Given the description of an element on the screen output the (x, y) to click on. 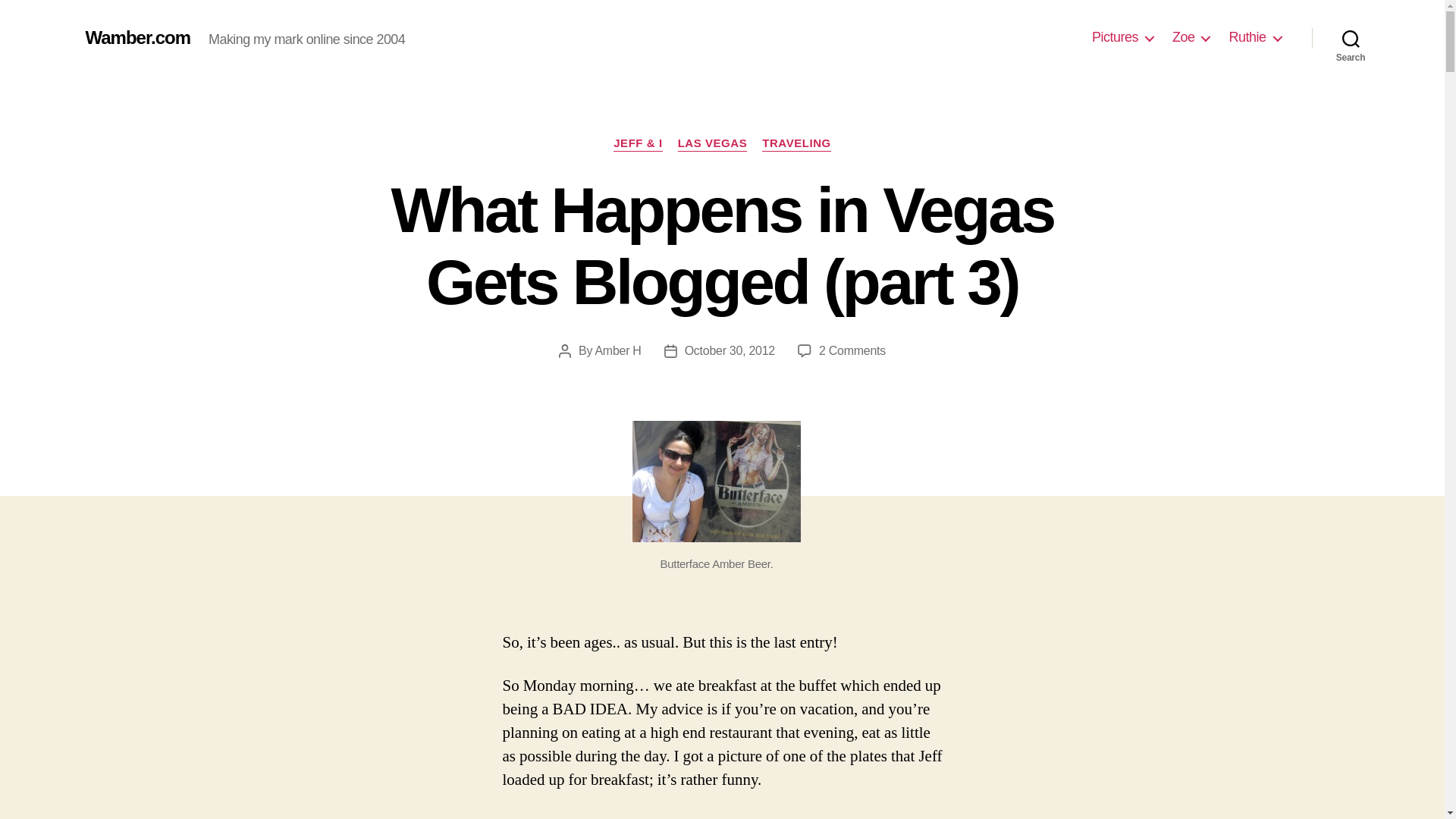
Amber H (617, 350)
LAS VEGAS (713, 143)
Zoe (1190, 37)
Search (1350, 37)
October 30, 2012 (729, 350)
Pictures (1122, 37)
TRAVELING (796, 143)
Ruthie (1254, 37)
Wamber.com (137, 37)
